Given the description of an element on the screen output the (x, y) to click on. 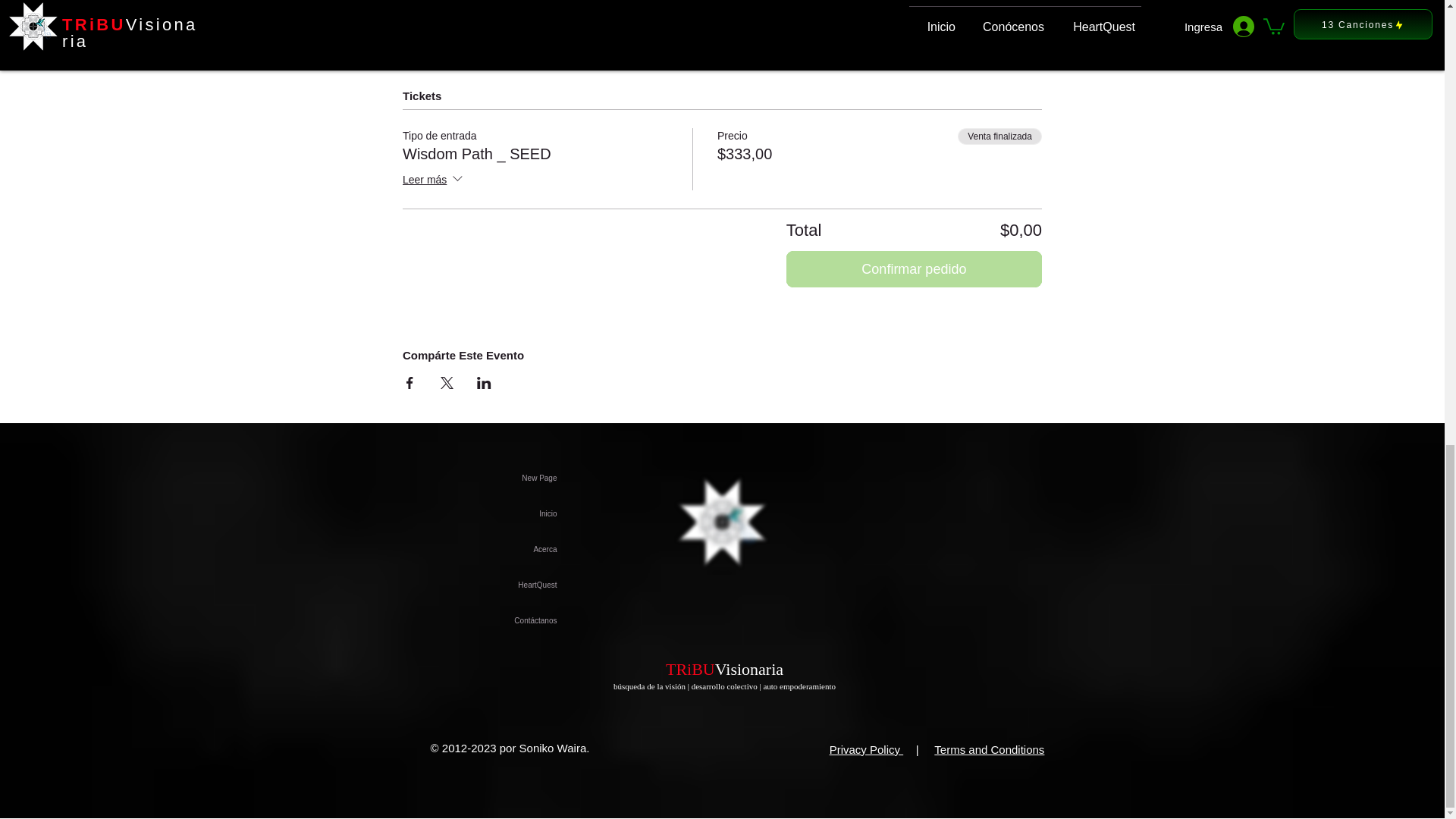
New Page (473, 478)
Inicio (473, 513)
Confirmar pedido (914, 268)
